Given the description of an element on the screen output the (x, y) to click on. 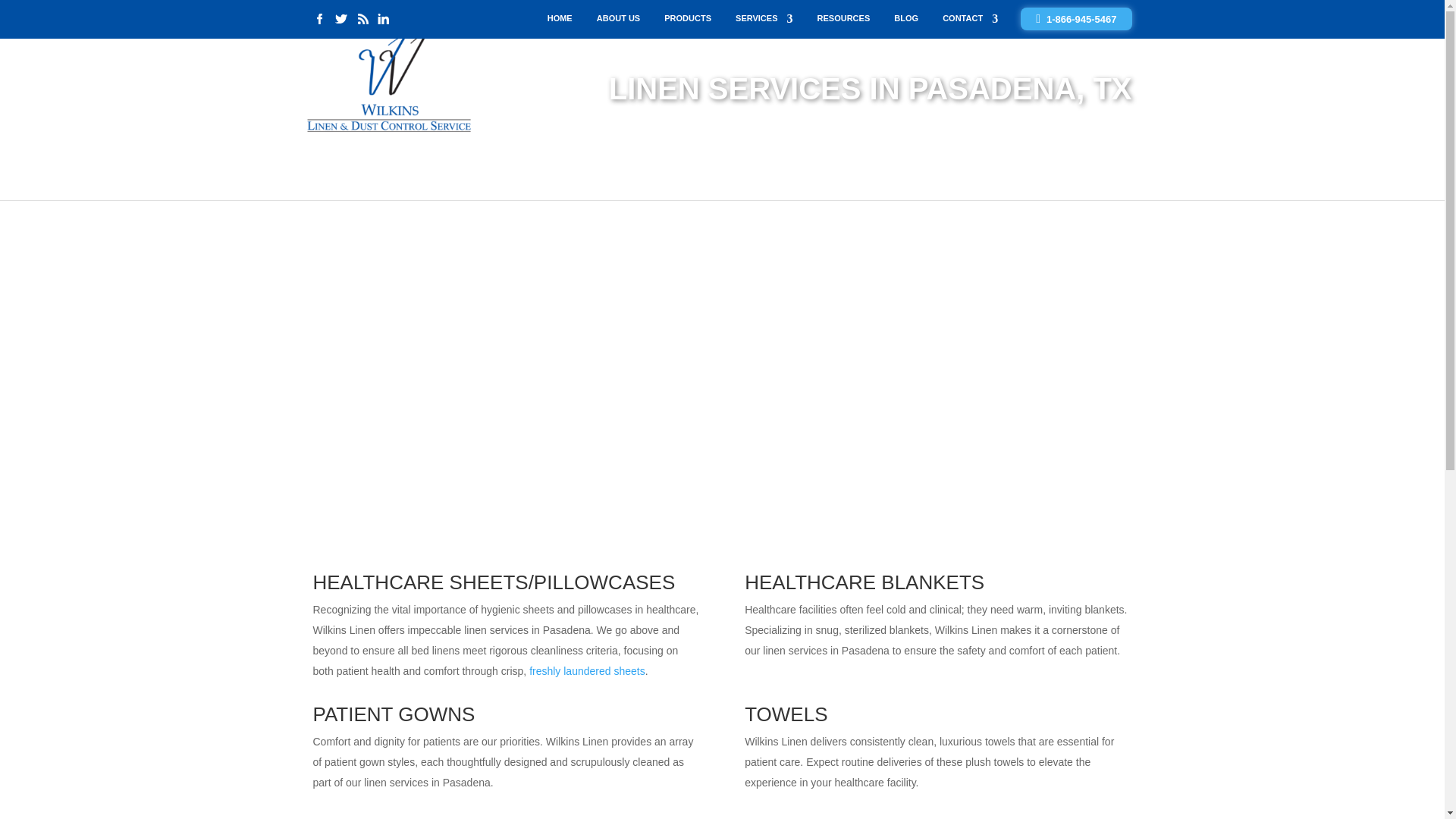
RESOURCES (843, 21)
HOME (559, 21)
ABOUT US (618, 21)
CONTACT (969, 21)
1-866-945-5467 (1075, 18)
BLOG (905, 21)
SERVICES (763, 21)
PRODUCTS (687, 21)
